Given the description of an element on the screen output the (x, y) to click on. 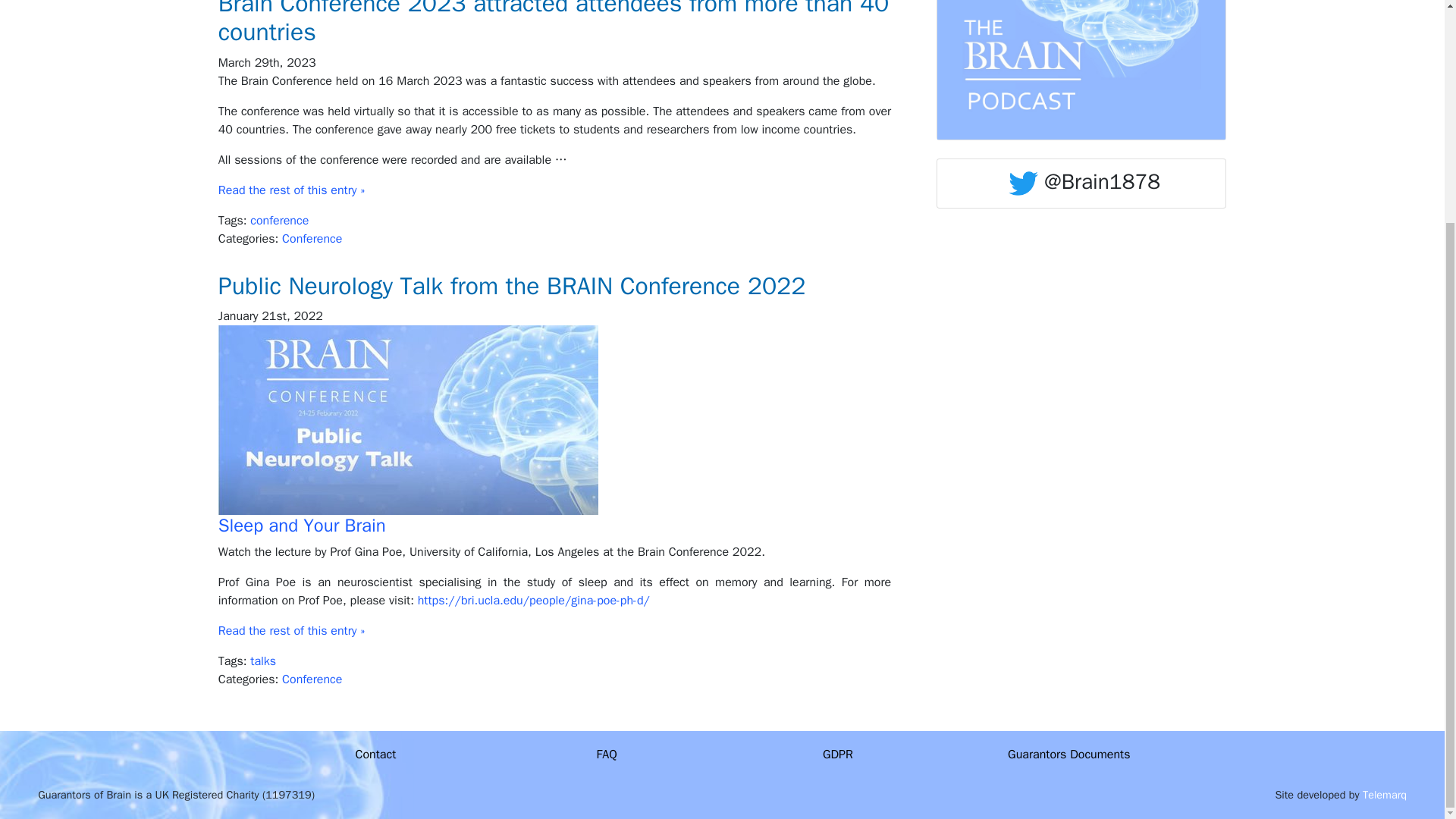
Contact (375, 754)
Sleep and Your Brain (301, 525)
Guarantors Documents (1068, 754)
conference (279, 220)
GDPR (837, 754)
talks (263, 661)
Public Neurology Talk from the BRAIN Conference 2022 (554, 286)
Telemarq (1384, 794)
Conference (312, 679)
Conference (312, 238)
FAQ (606, 754)
